Given the description of an element on the screen output the (x, y) to click on. 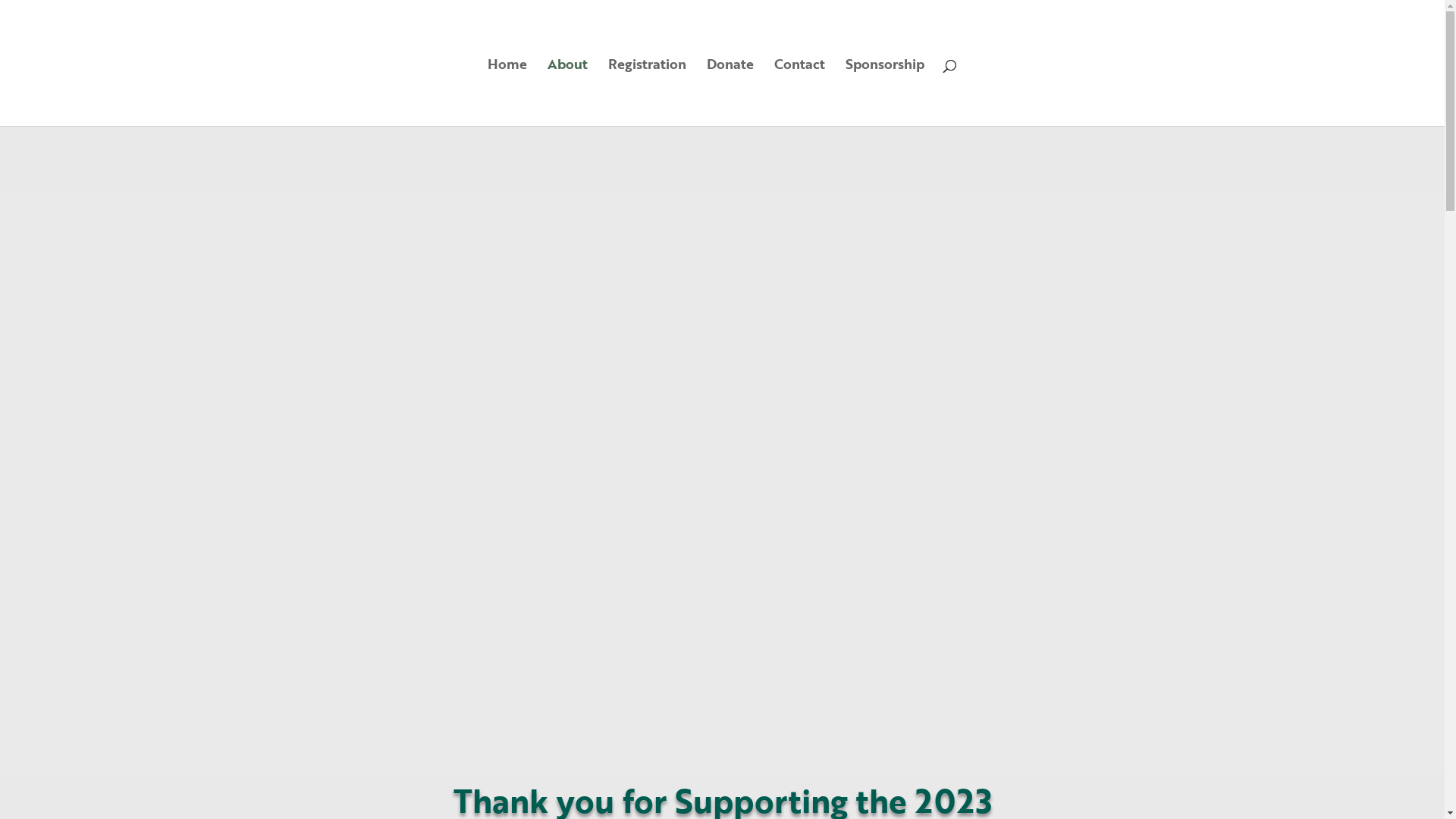
Home Element type: text (507, 91)
Donate Element type: text (729, 91)
Sponsorship Element type: text (884, 91)
About Element type: text (567, 91)
Registration Element type: text (647, 91)
Contact Element type: text (799, 91)
